Given the description of an element on the screen output the (x, y) to click on. 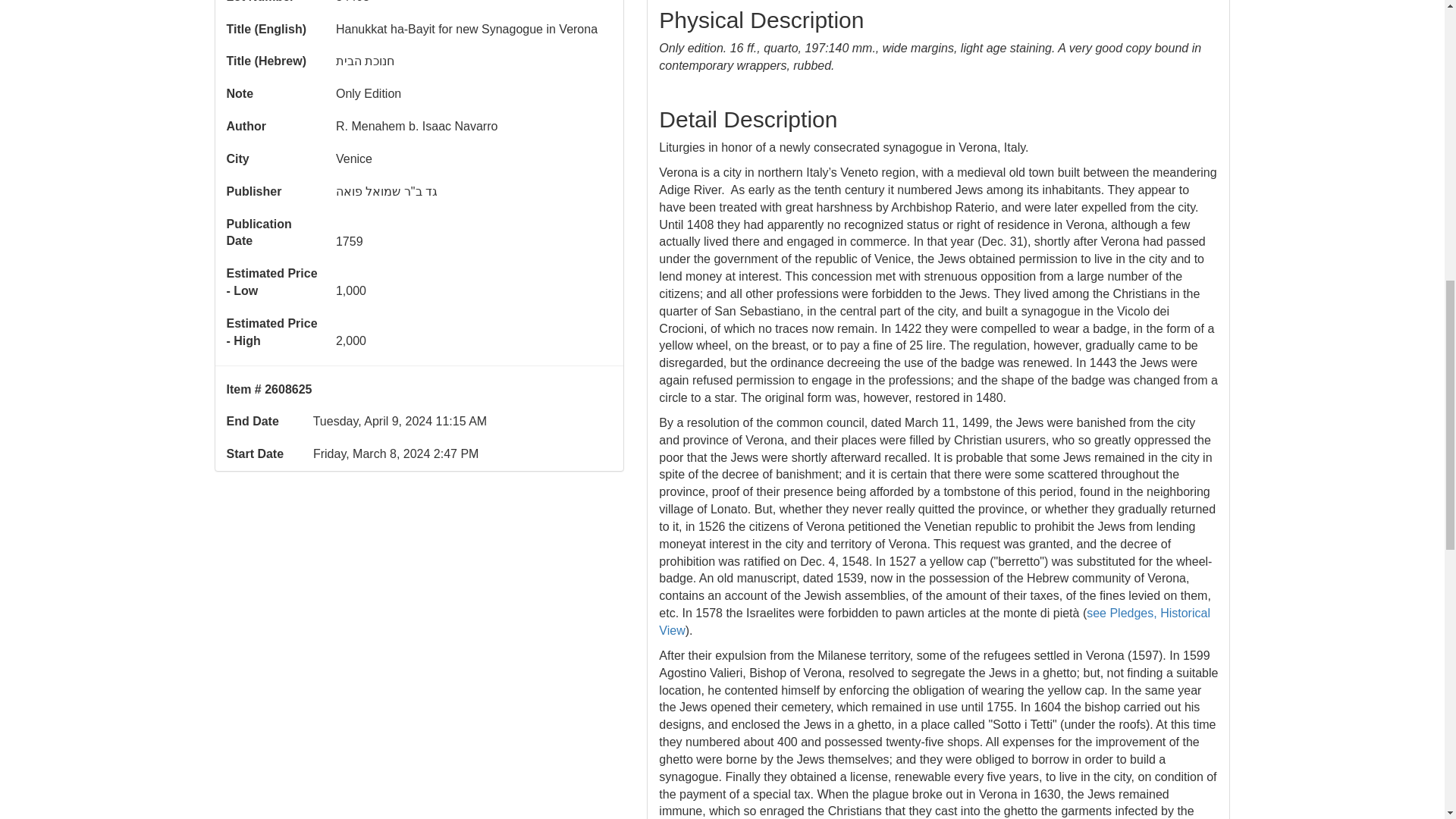
see Pledges, Historical View (934, 621)
